Given the description of an element on the screen output the (x, y) to click on. 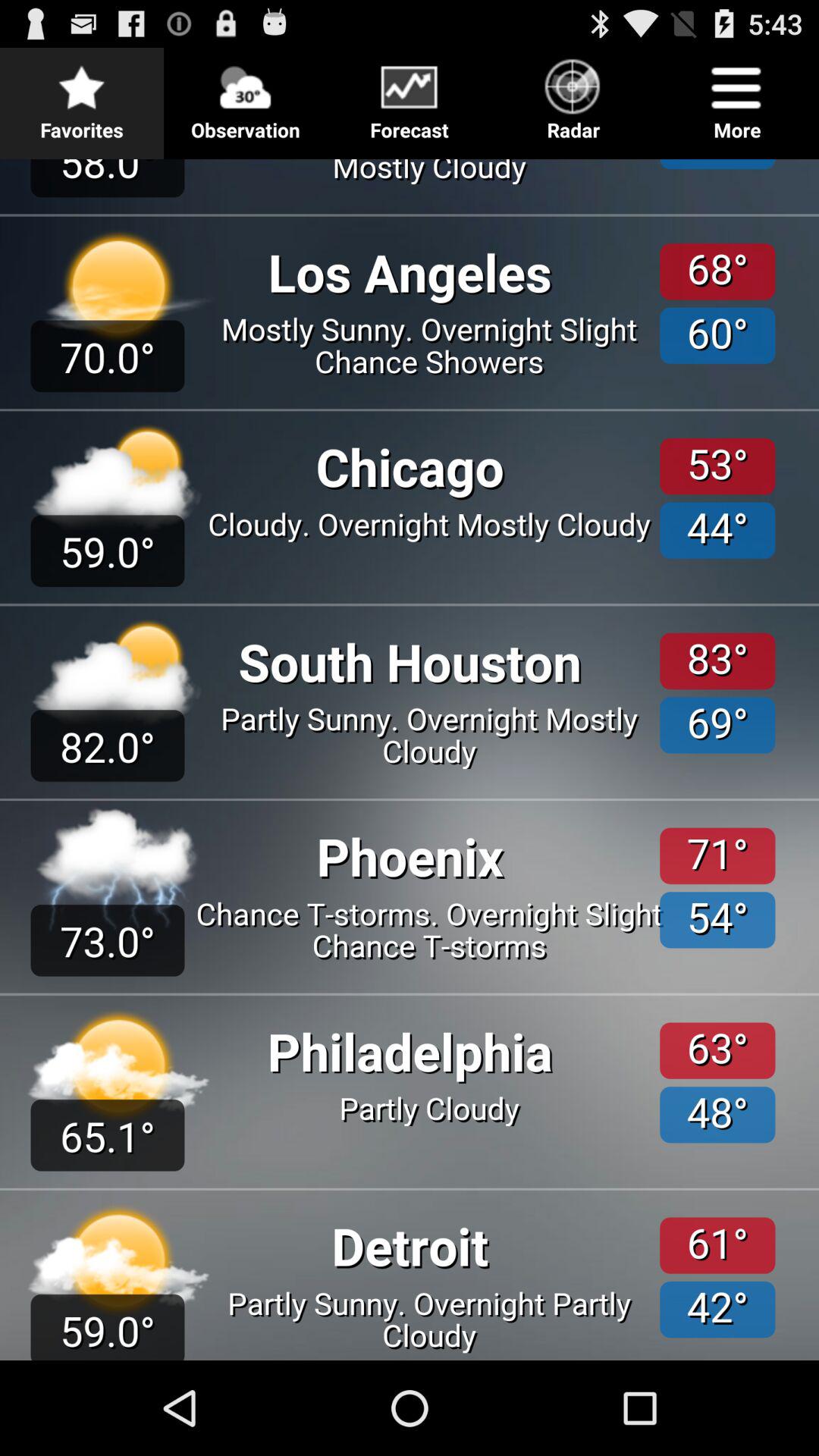
toggle weather option (409, 753)
